Given the description of an element on the screen output the (x, y) to click on. 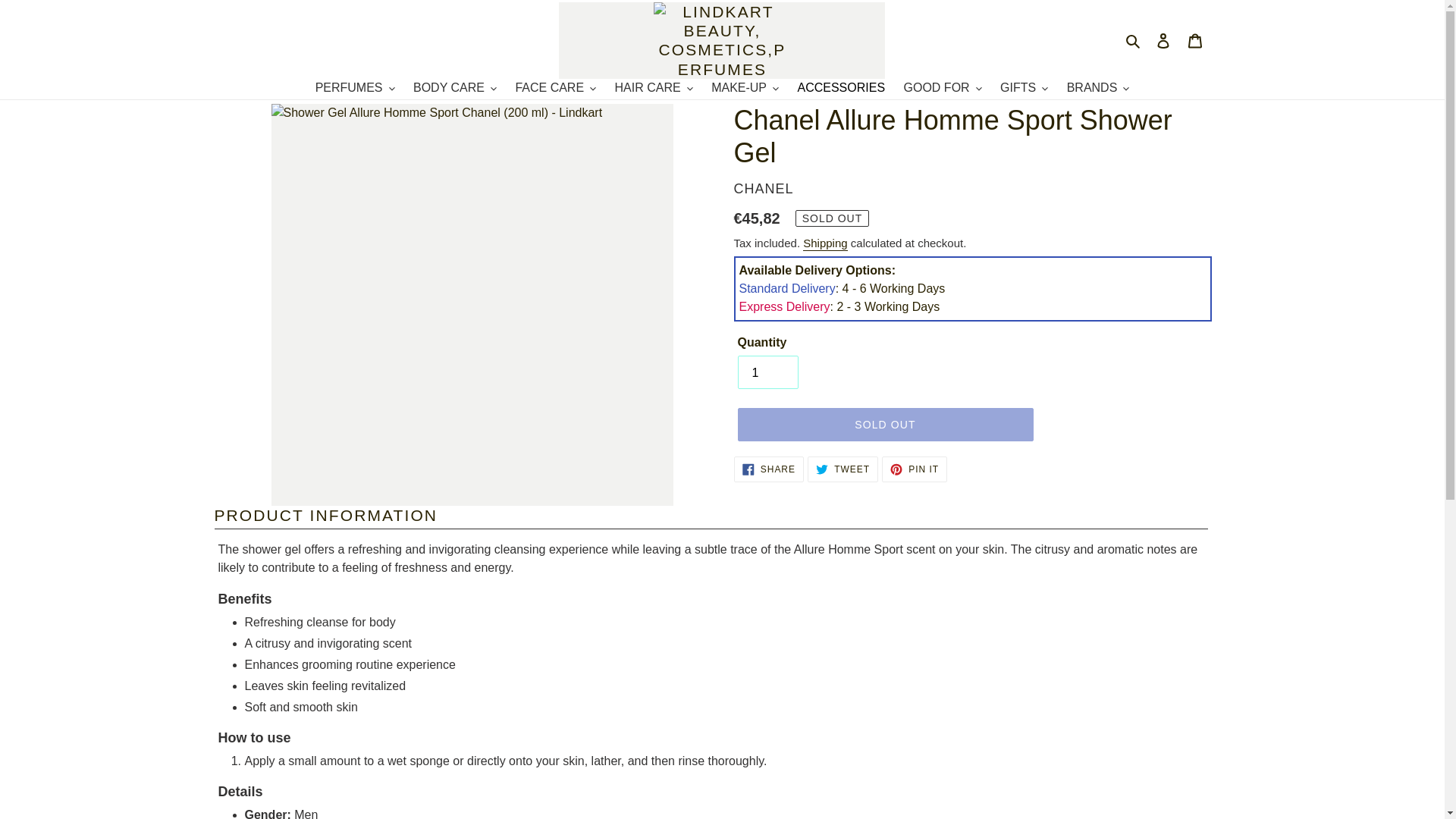
Social Login Google One Tap (1285, 121)
1 (766, 372)
Log in (1163, 39)
Cart (1195, 39)
Search (1134, 39)
